Given the description of an element on the screen output the (x, y) to click on. 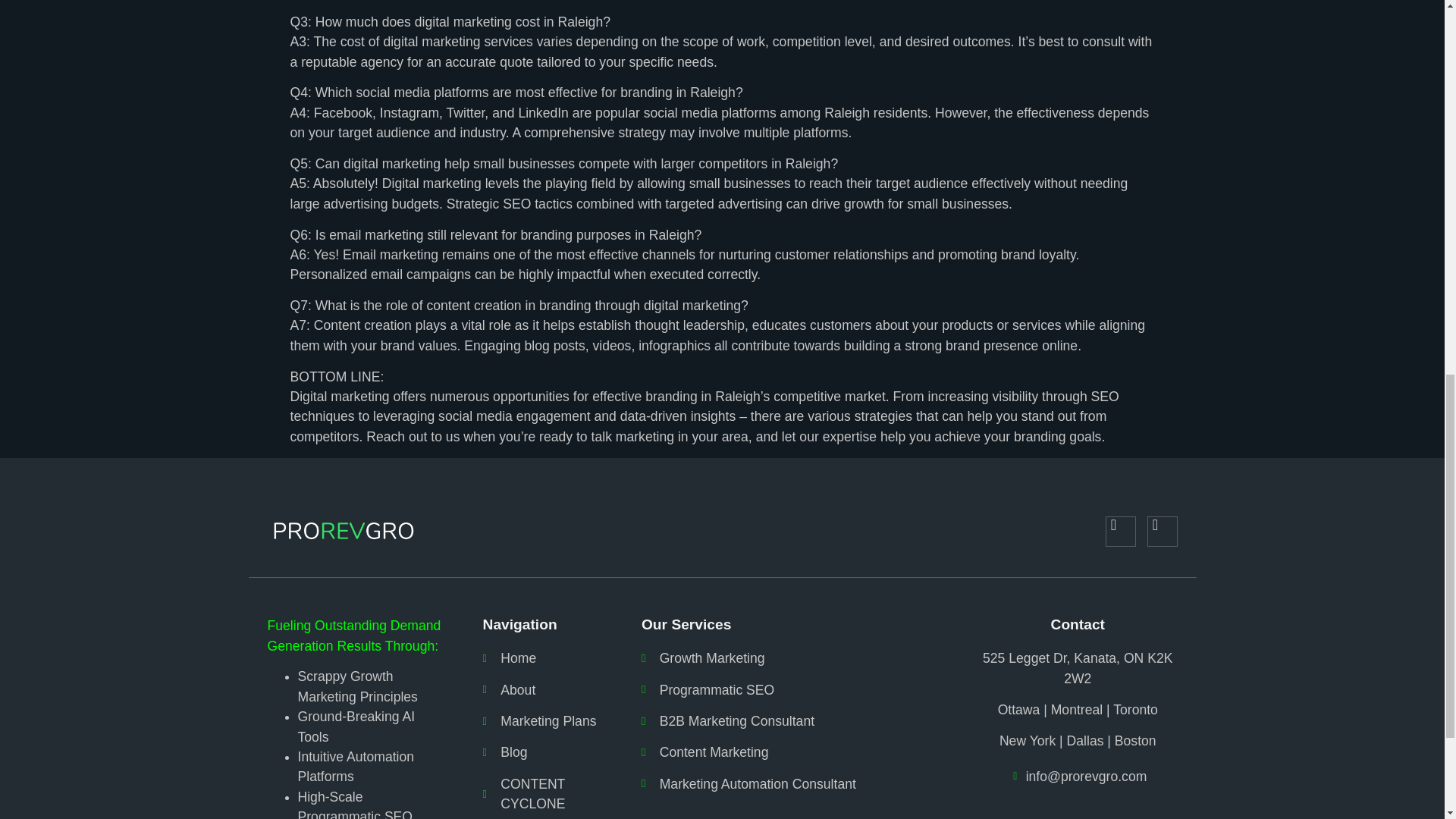
Blog (543, 752)
B2B Marketing Consultant (791, 721)
Marketing Automation Consultant (791, 783)
Home (543, 658)
About (543, 690)
Growth Marketing (791, 658)
CONTENT CYCLONE (543, 793)
Marketing Plans (543, 721)
Programmatic SEO (791, 690)
Content Marketing (791, 752)
